Given the description of an element on the screen output the (x, y) to click on. 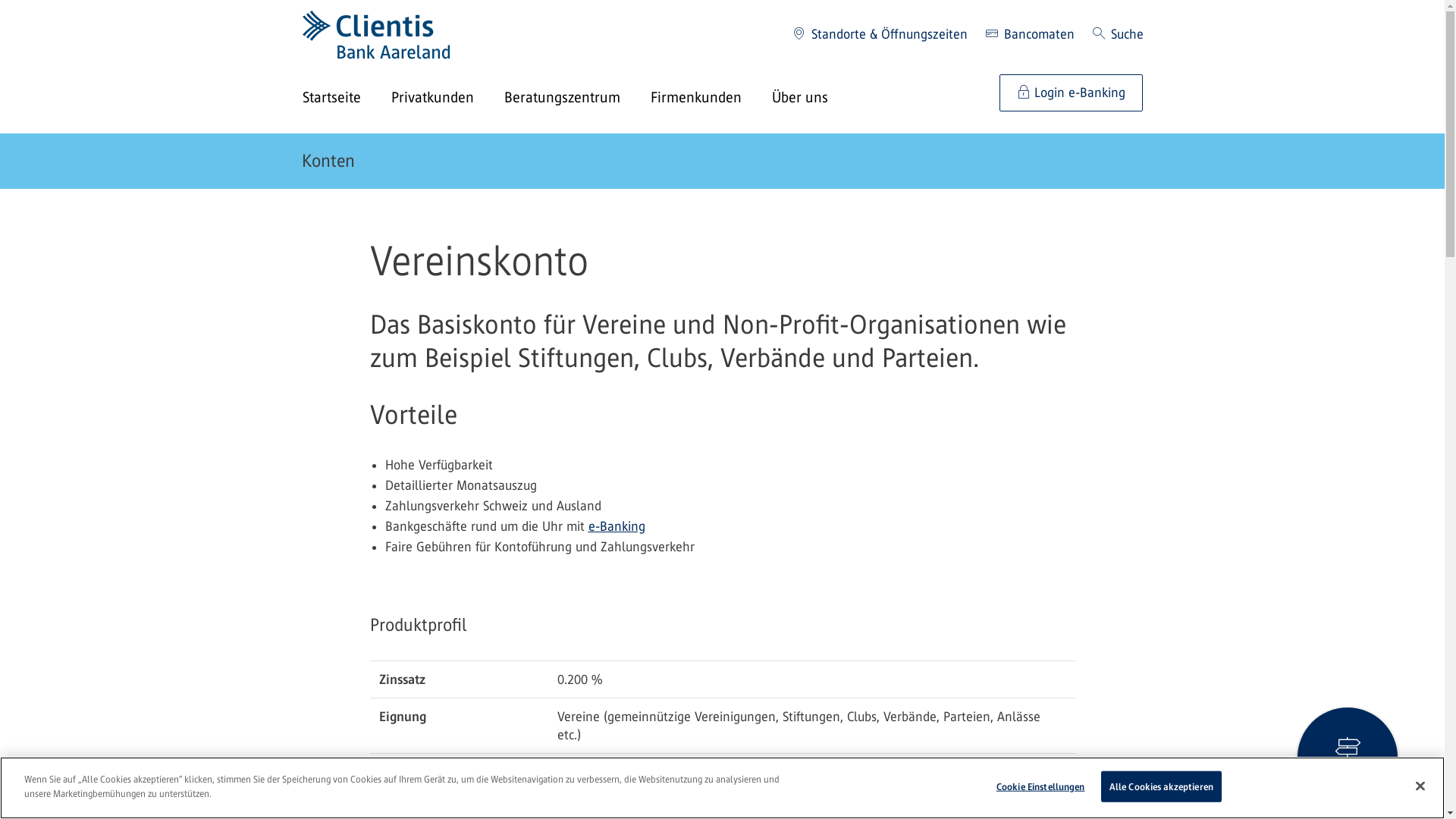
Suche Element type: text (1117, 34)
Konten Element type: text (327, 160)
Cookie Einstellungen Element type: text (1040, 786)
Bancomaten Element type: text (1029, 34)
Login e-Banking Element type: text (1070, 92)
Startseite Element type: text (345, 98)
Privatkunden Element type: text (447, 98)
Alle Cookies akzeptieren Element type: text (1161, 787)
Kontakt Element type: text (1347, 757)
Firmenkunden Element type: text (710, 98)
e-Banking Element type: text (616, 525)
Beratungszentrum Element type: text (576, 98)
